Given the description of an element on the screen output the (x, y) to click on. 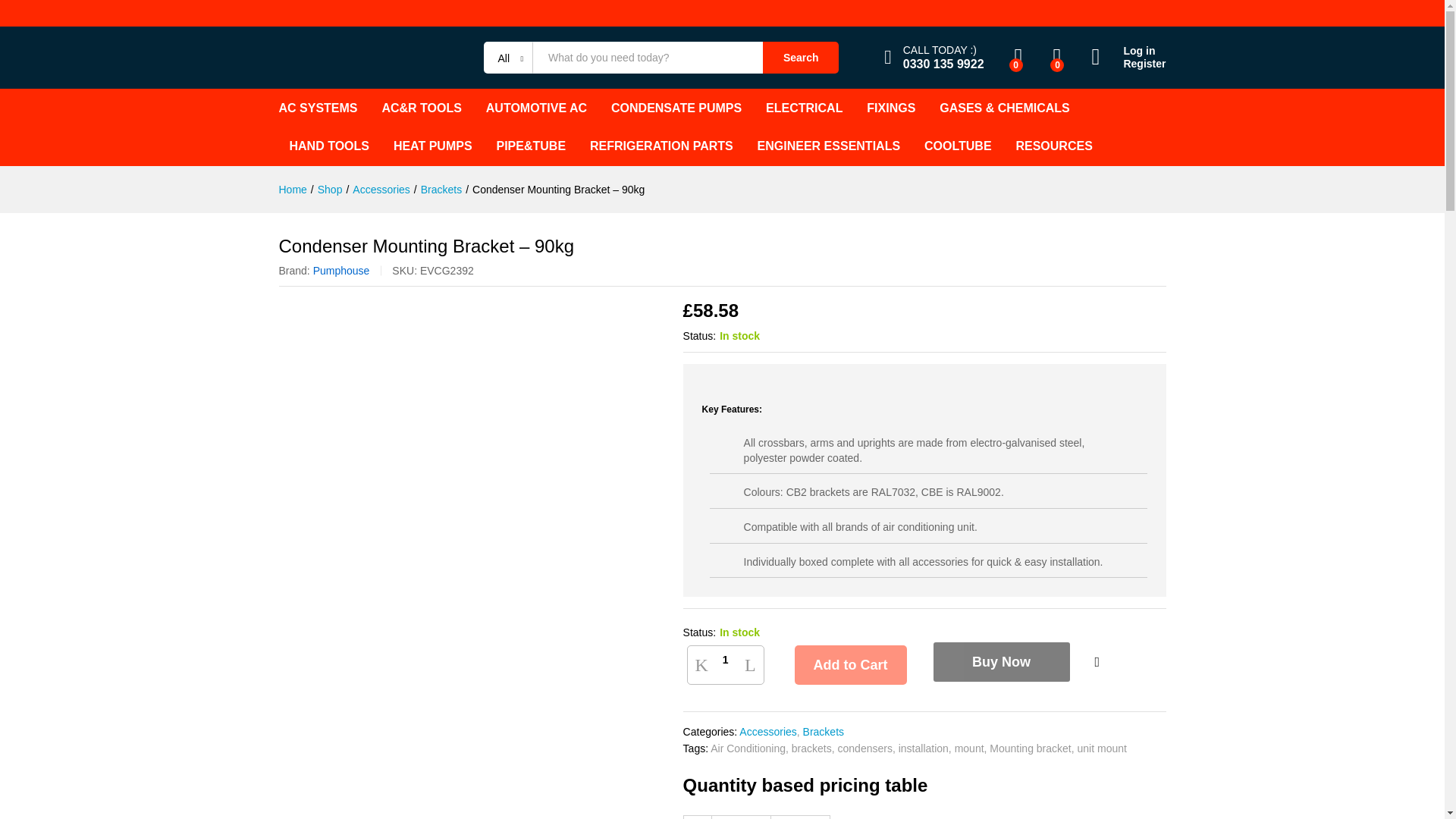
Register (1128, 63)
Qty (725, 659)
Log in (1128, 51)
1 (725, 659)
Search (800, 57)
AC SYSTEMS (318, 108)
